Given the description of an element on the screen output the (x, y) to click on. 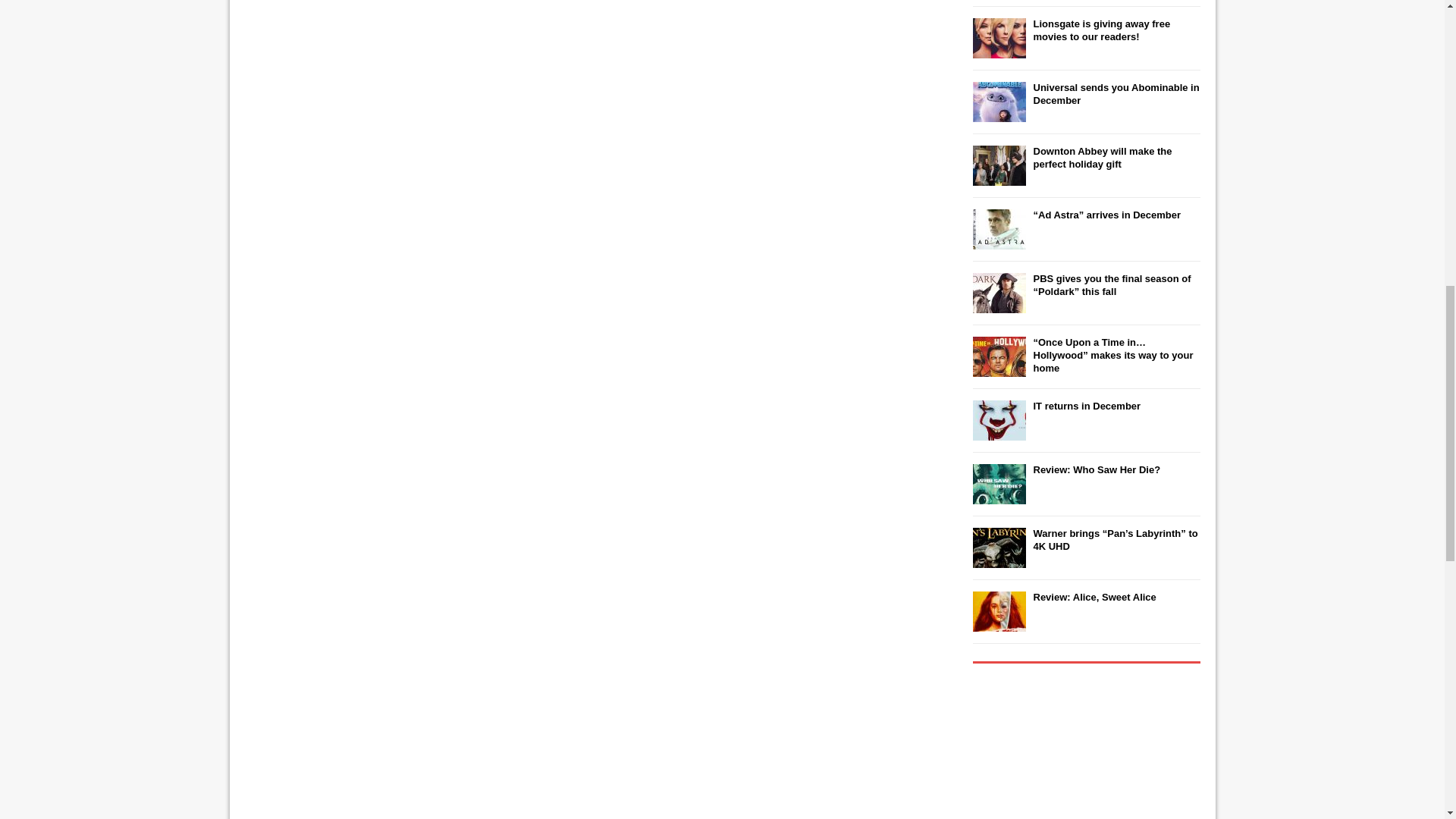
Universal sends you Abominable in December (1115, 93)
Downton Abbey will make the perfect holiday gift (1102, 157)
Lionsgate is giving away free movies to our readers! (1101, 30)
